Given the description of an element on the screen output the (x, y) to click on. 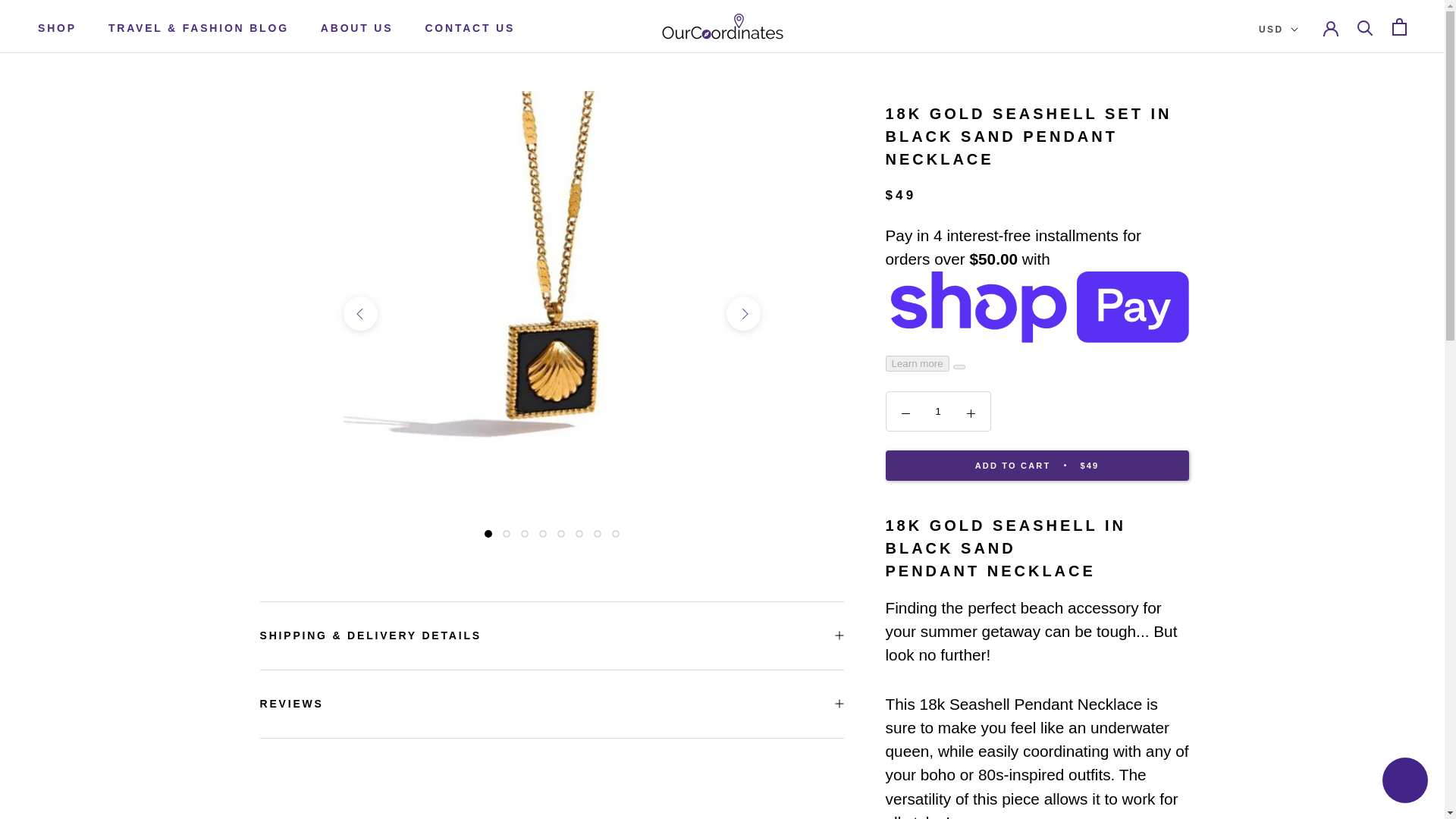
1 (938, 410)
Shopify online store chat (1404, 781)
Currency selector (1278, 29)
